Given the description of an element on the screen output the (x, y) to click on. 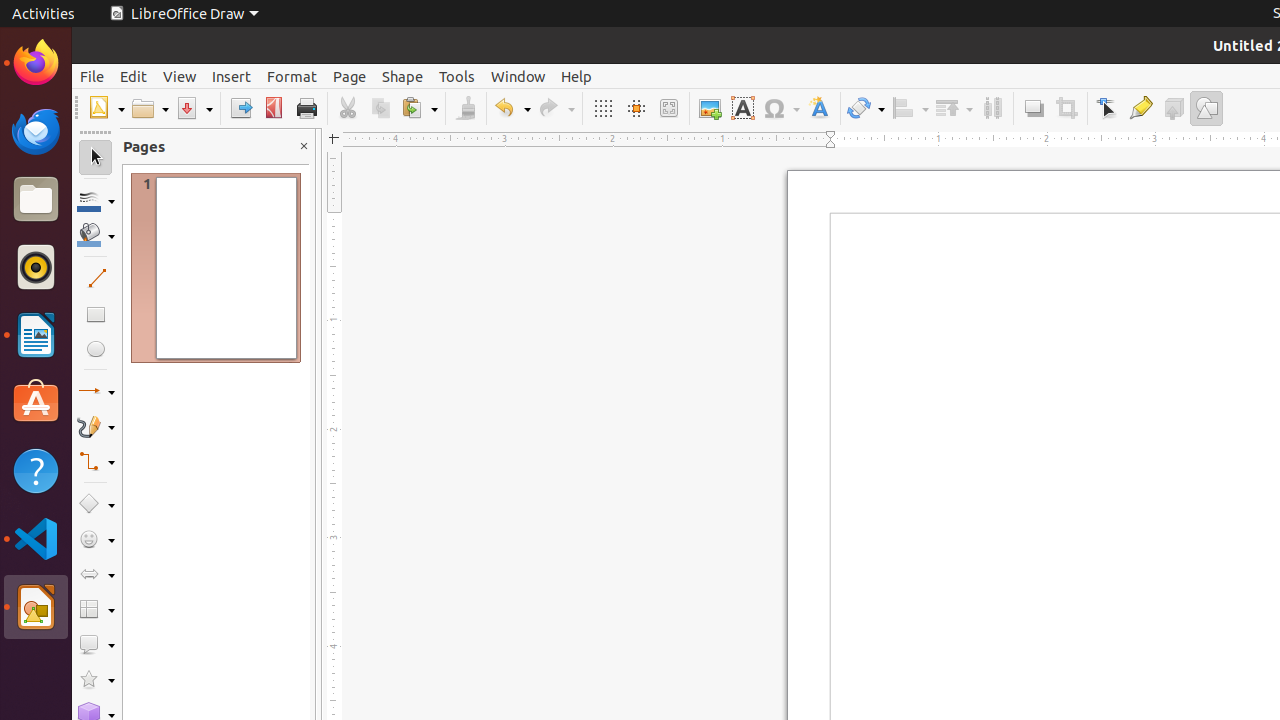
Thunderbird Mail Element type: push-button (36, 131)
Symbol Element type: push-button (781, 108)
Select Element type: push-button (95, 157)
Insert Element type: menu (231, 76)
Visual Studio Code Element type: push-button (36, 538)
